Given the description of an element on the screen output the (x, y) to click on. 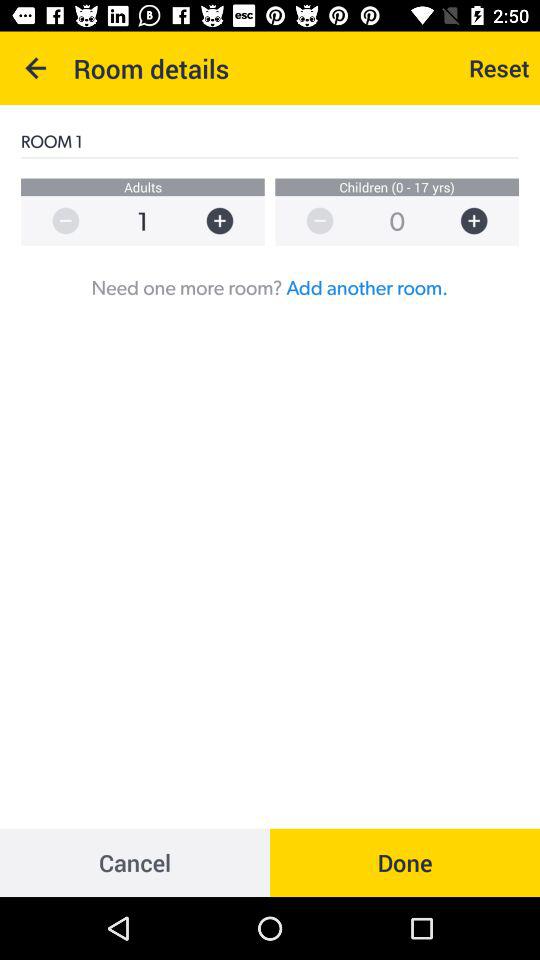
click item at the bottom left corner (135, 862)
